Given the description of an element on the screen output the (x, y) to click on. 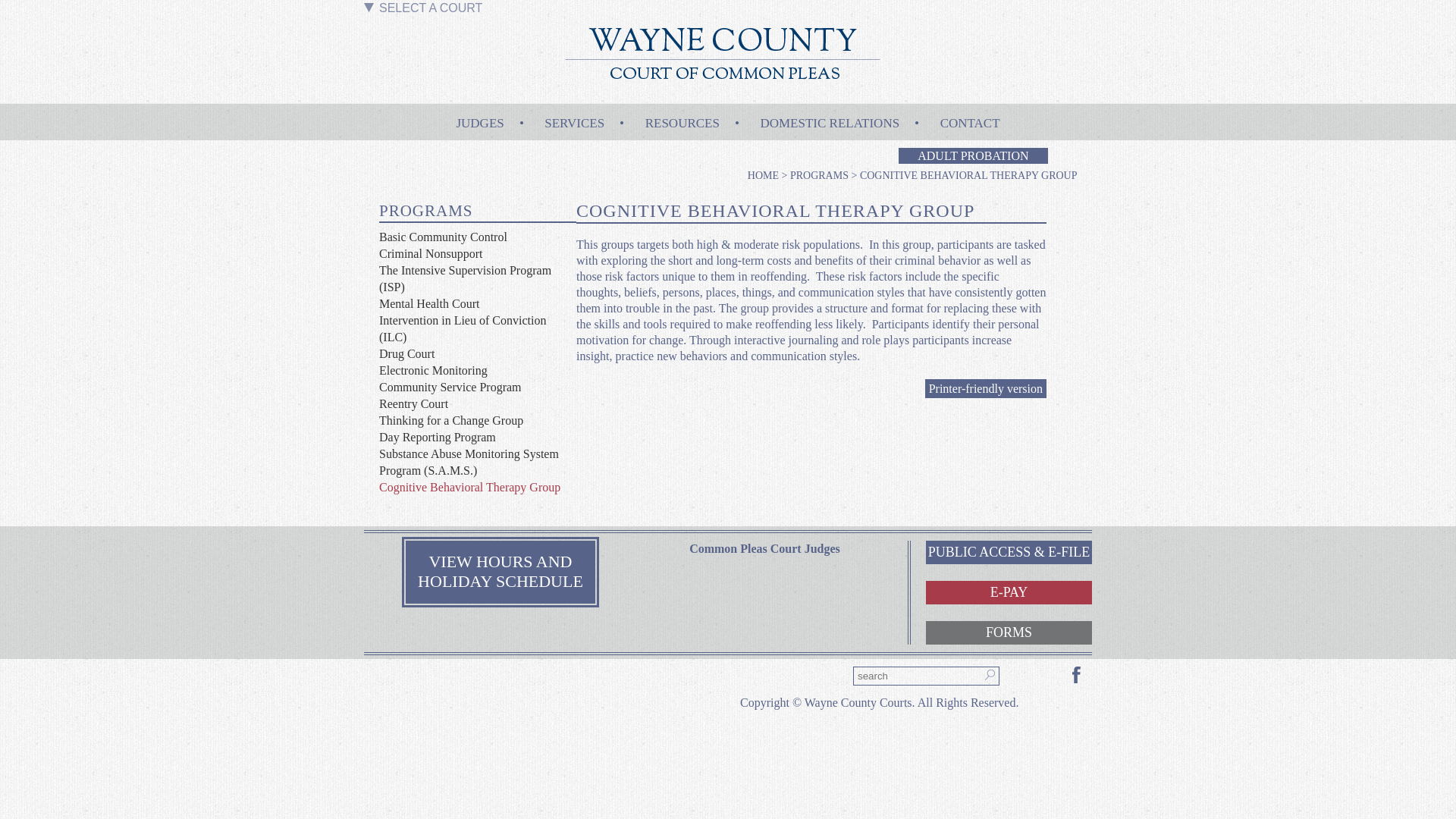
Mental Health Court (428, 303)
Community Service Program (449, 386)
Home (722, 88)
CONTACT (970, 118)
Go (12, 9)
Basic Community Control (442, 236)
Cognitive Behavioral Therapy Group (469, 486)
Thinking for a Change Group (450, 420)
Display a printer-friendly version of this page. (985, 388)
Criminal Nonsupport (429, 253)
HOME (763, 174)
ADULT PROBATION (972, 155)
RESOURCES (682, 118)
Reentry Court (413, 403)
JUDGES (479, 118)
